Given the description of an element on the screen output the (x, y) to click on. 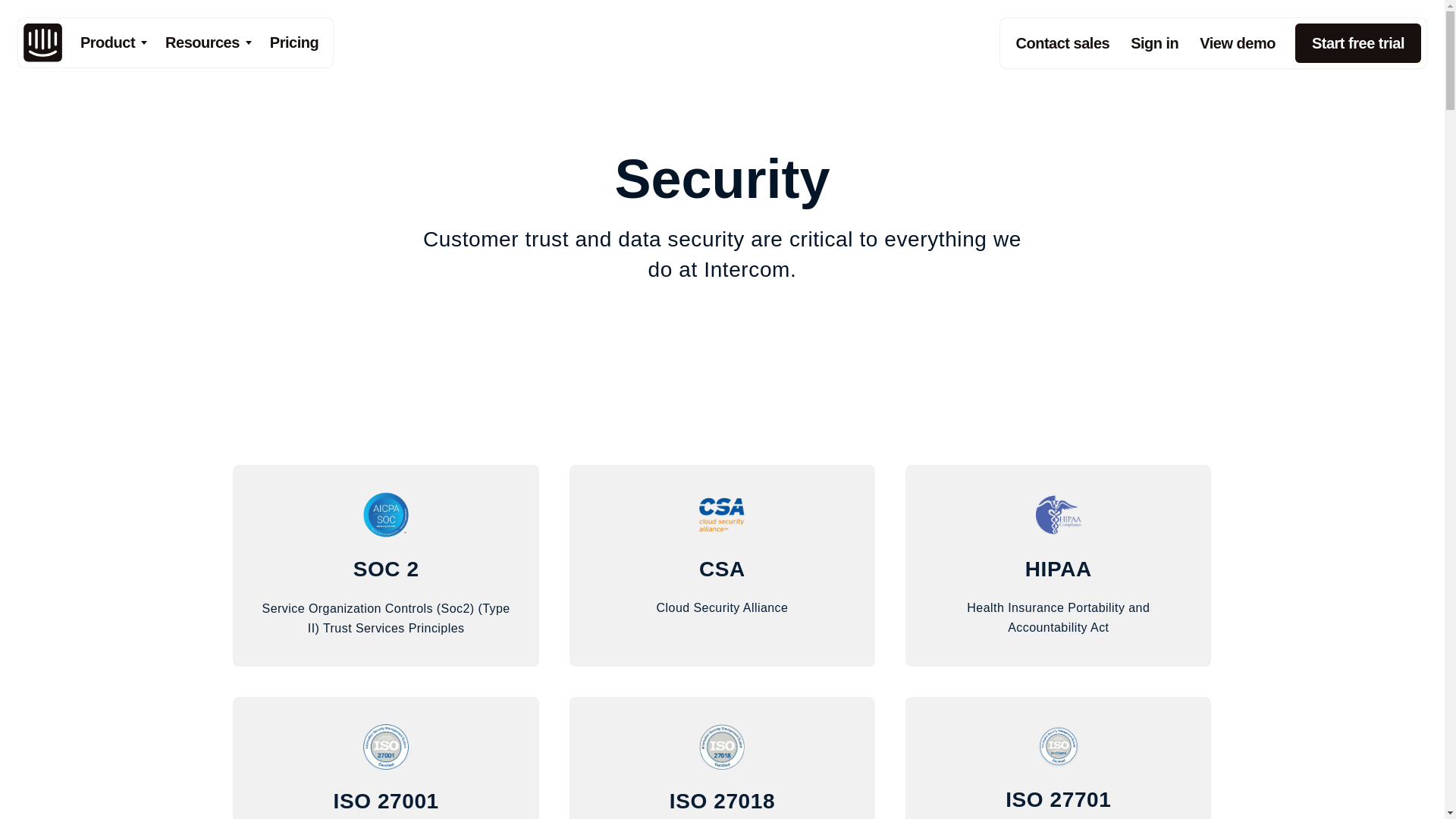
Sign in (1154, 43)
Start free trial (1358, 43)
Product (113, 42)
Contact sales (1063, 43)
Pricing (293, 42)
View demo (1237, 43)
Resources (207, 42)
